Given the description of an element on the screen output the (x, y) to click on. 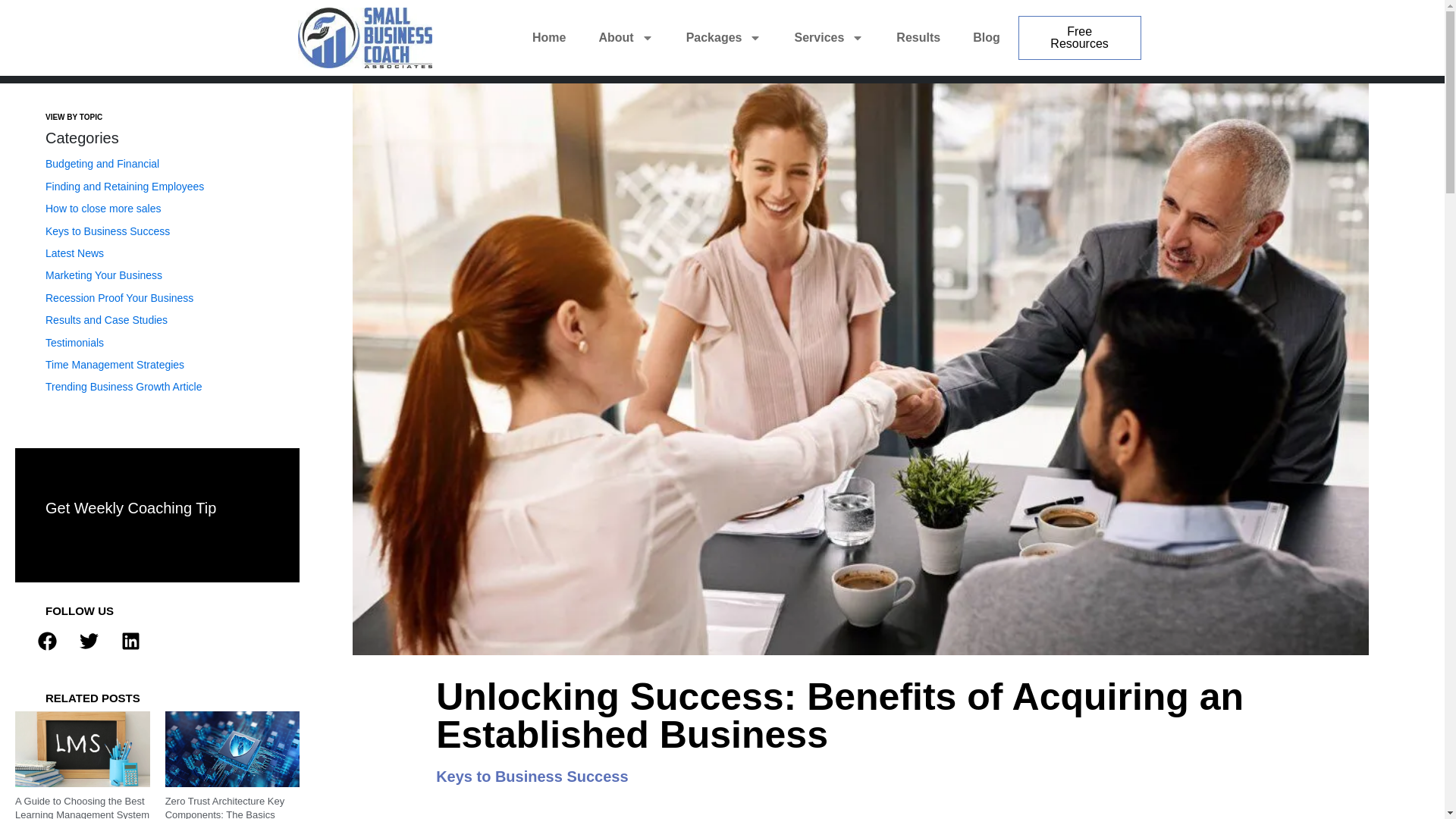
Home (549, 37)
Packages (723, 37)
Results (918, 37)
About (625, 37)
Free Resources (1079, 37)
Services (828, 37)
Blog (986, 37)
